Given the description of an element on the screen output the (x, y) to click on. 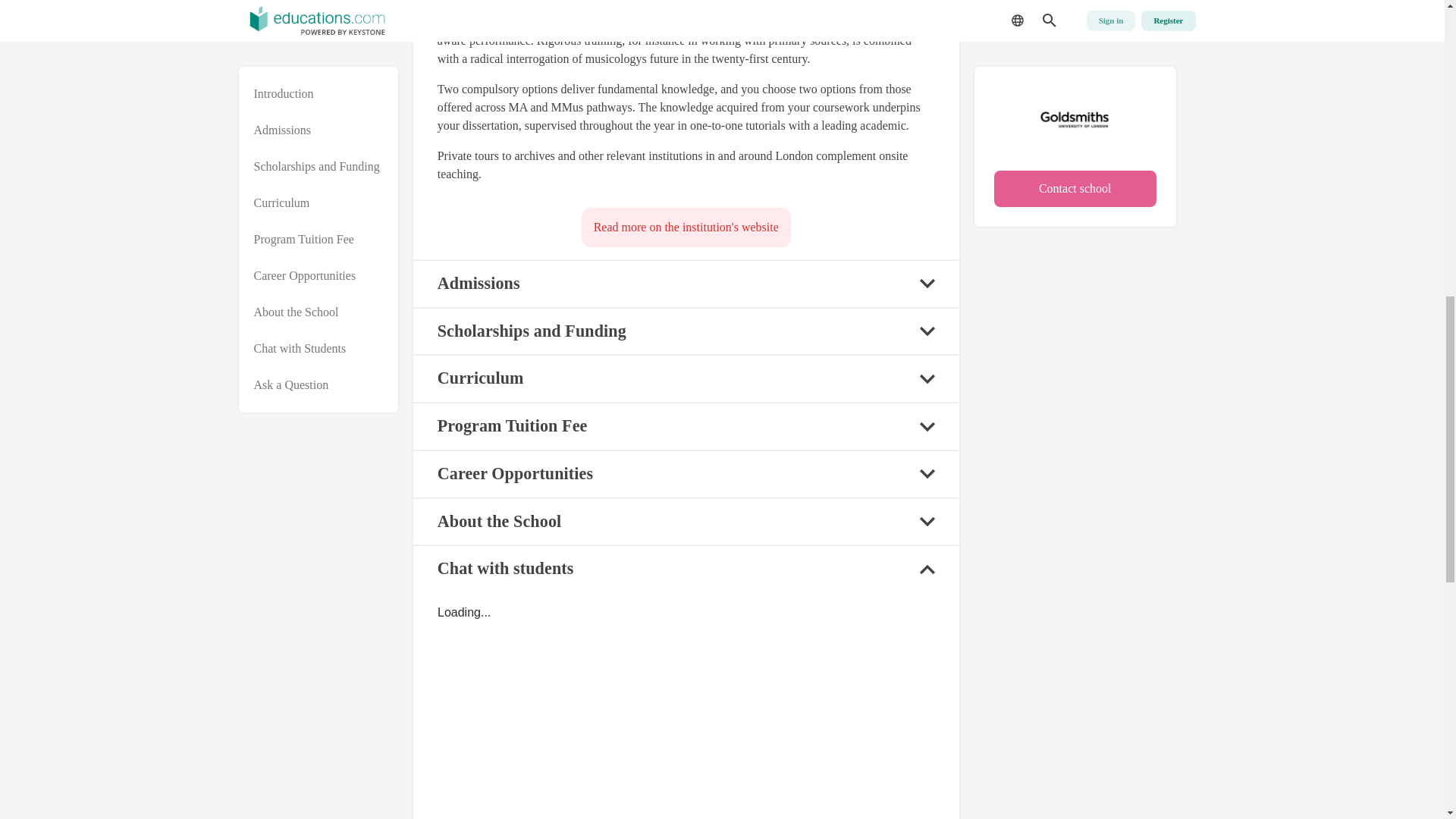
Unibuddy (686, 711)
